Given the description of an element on the screen output the (x, y) to click on. 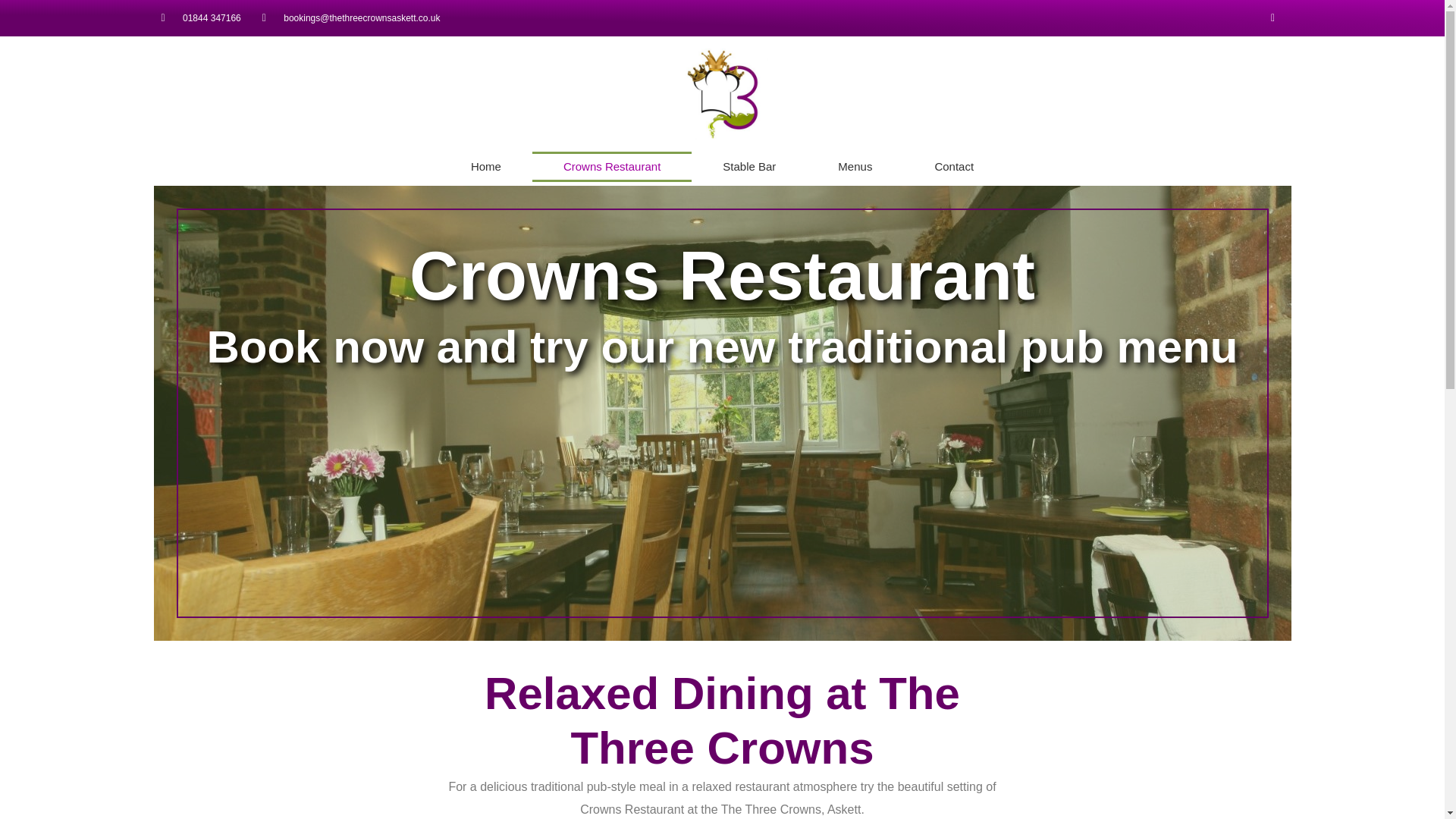
Menus (854, 166)
Contact (953, 166)
Home (485, 166)
Crowns Restaurant (611, 166)
Stable Bar (748, 166)
